Given the description of an element on the screen output the (x, y) to click on. 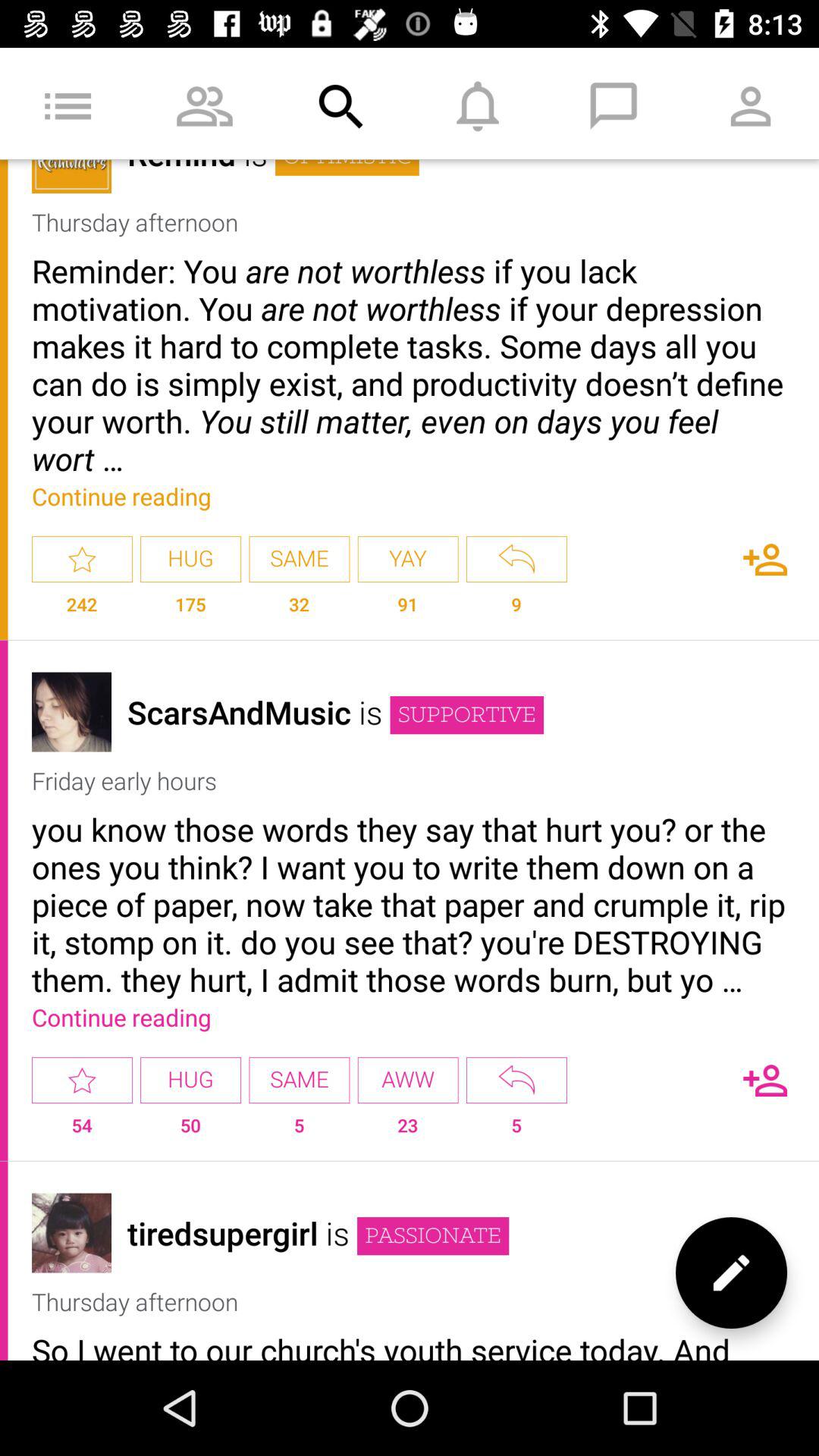
tap the app below the yay icon (516, 610)
